Given the description of an element on the screen output the (x, y) to click on. 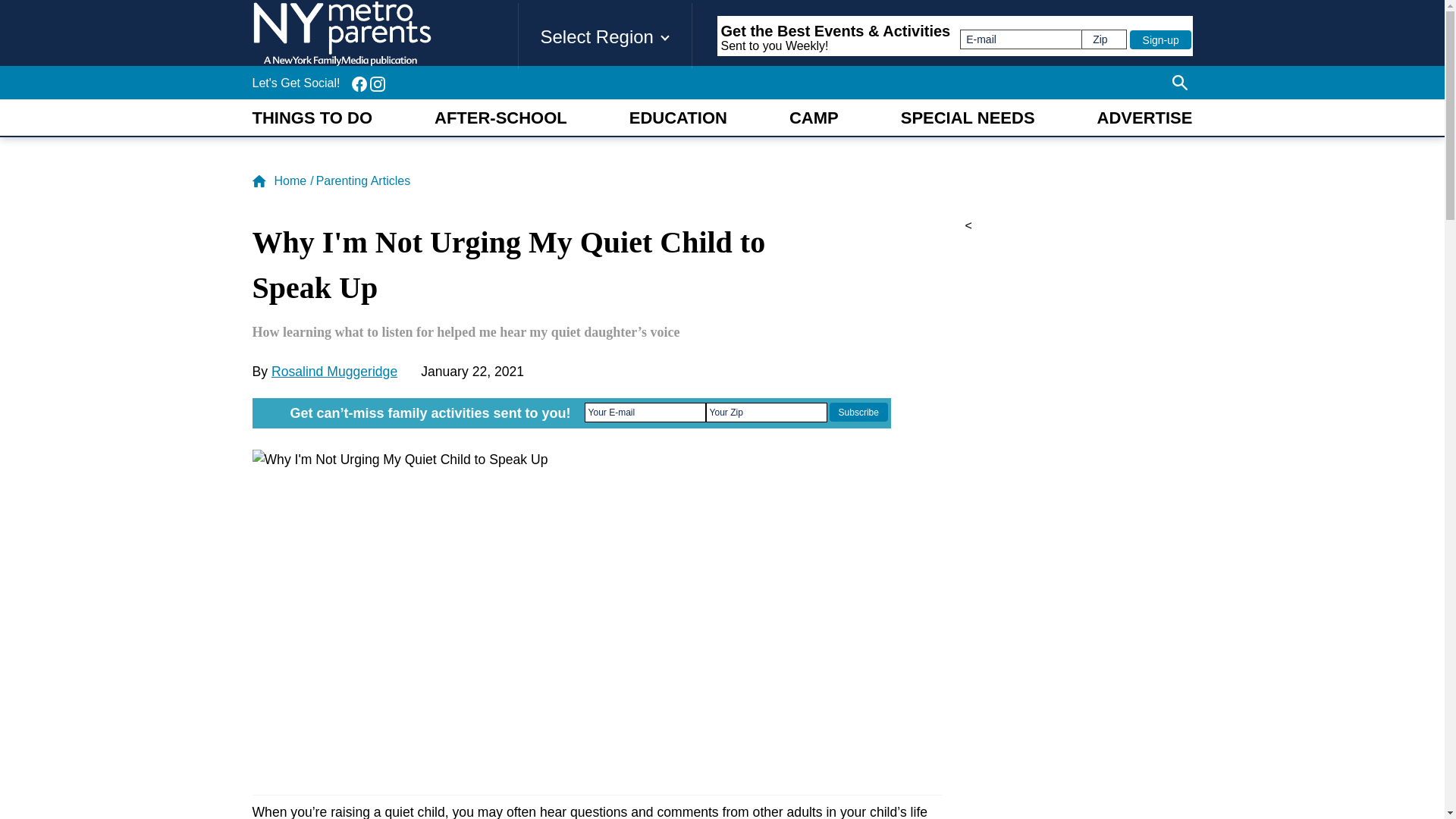
THINGS TO DO (311, 118)
CAMP (813, 118)
Sign-up (1160, 39)
AFTER-SCHOOL (500, 118)
EDUCATION (677, 118)
